Given the description of an element on the screen output the (x, y) to click on. 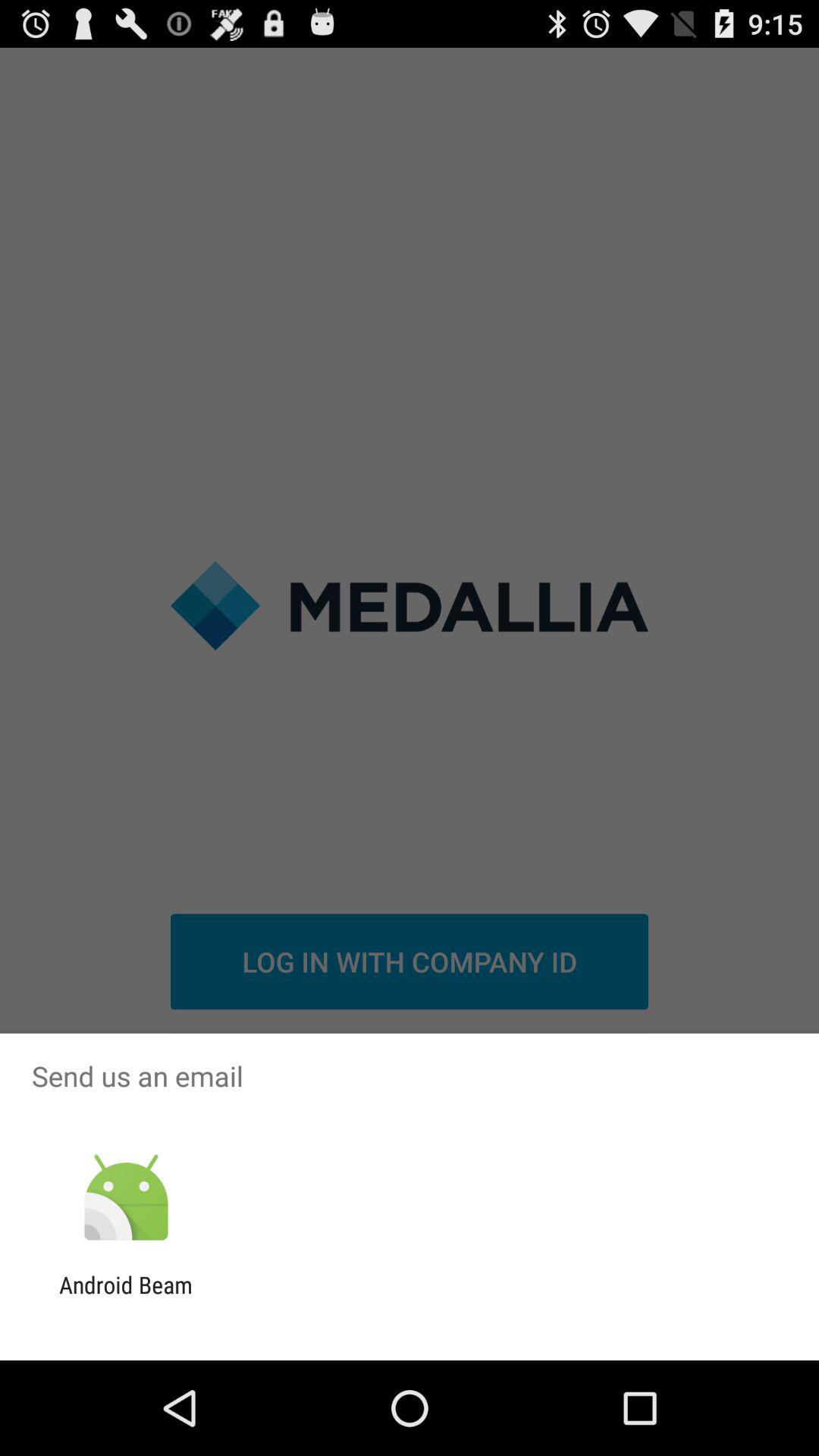
flip to the android beam icon (125, 1298)
